Given the description of an element on the screen output the (x, y) to click on. 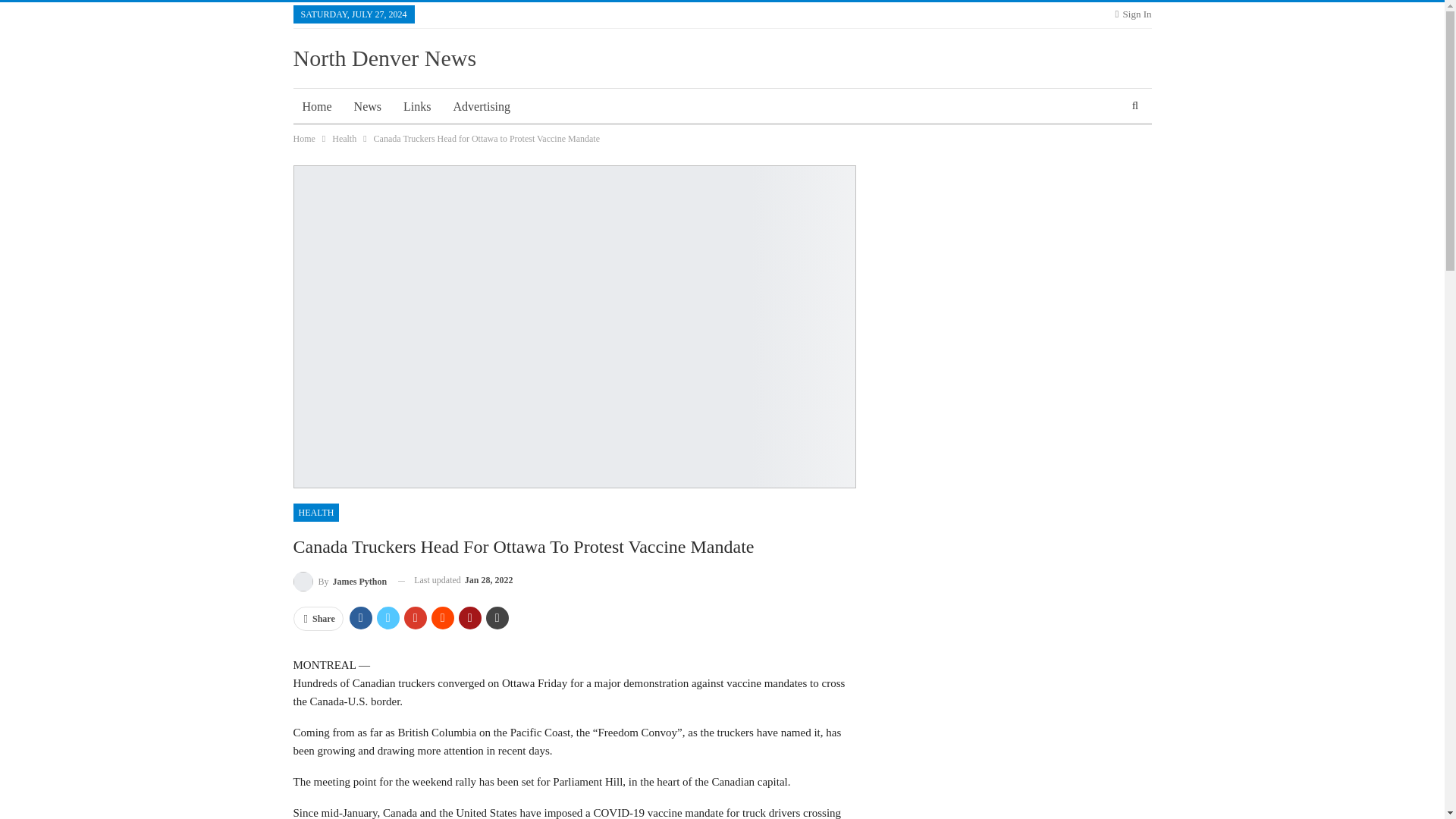
Health (343, 138)
By James Python (339, 580)
Browse Author Articles (339, 580)
Links (416, 106)
Advertising (481, 106)
Links (416, 106)
Sign In (1133, 13)
Home (316, 106)
Home (303, 138)
News (367, 106)
North Denver News (384, 57)
HEALTH (315, 512)
